Given the description of an element on the screen output the (x, y) to click on. 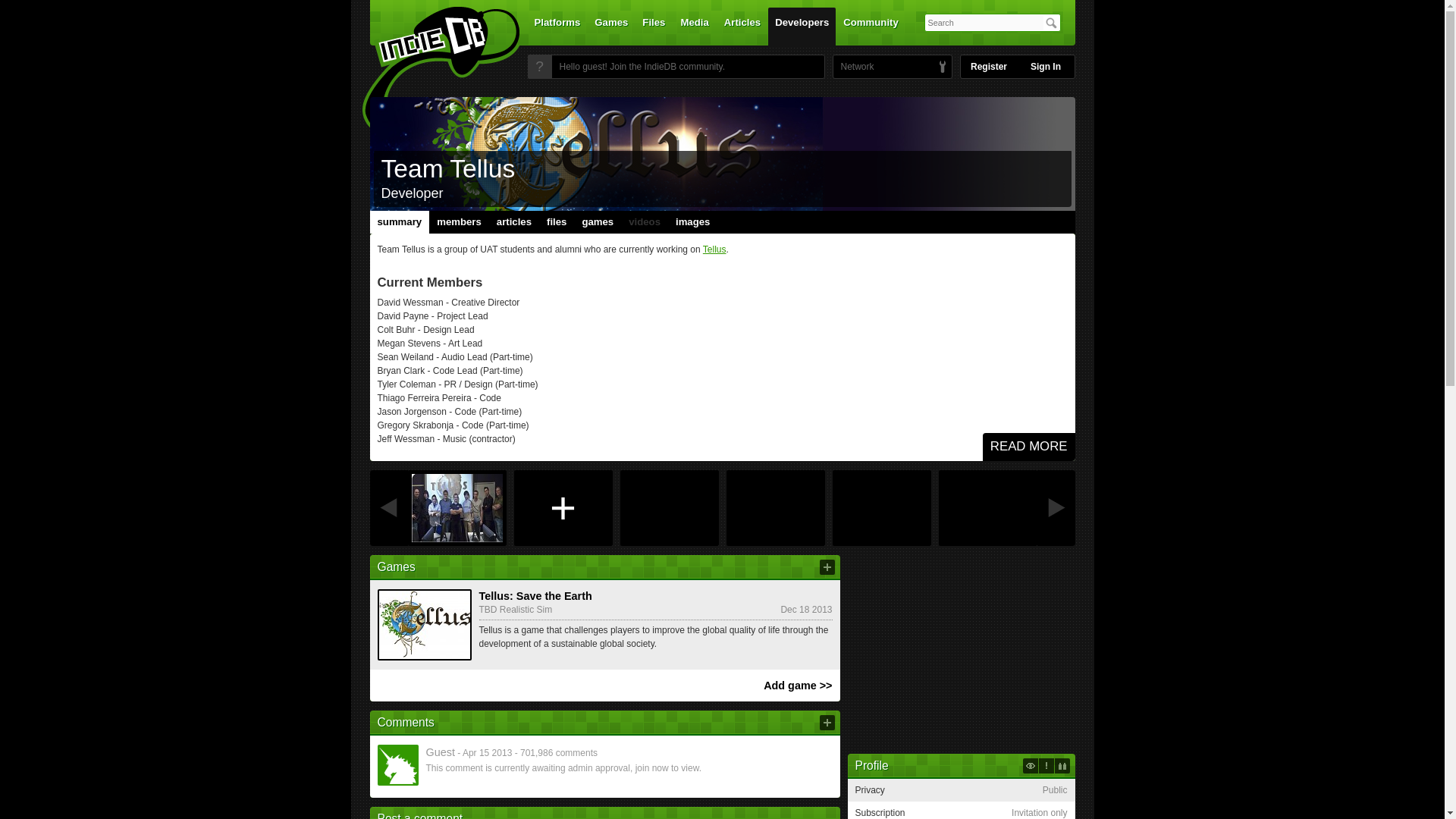
DBolical (852, 66)
Search (1050, 22)
Join IndieDB (539, 66)
Files (652, 26)
Home (430, 70)
Search IndieDB (1050, 22)
Add game (826, 566)
Add media (562, 508)
Articles (742, 26)
Team Photo! (456, 508)
